Given the description of an element on the screen output the (x, y) to click on. 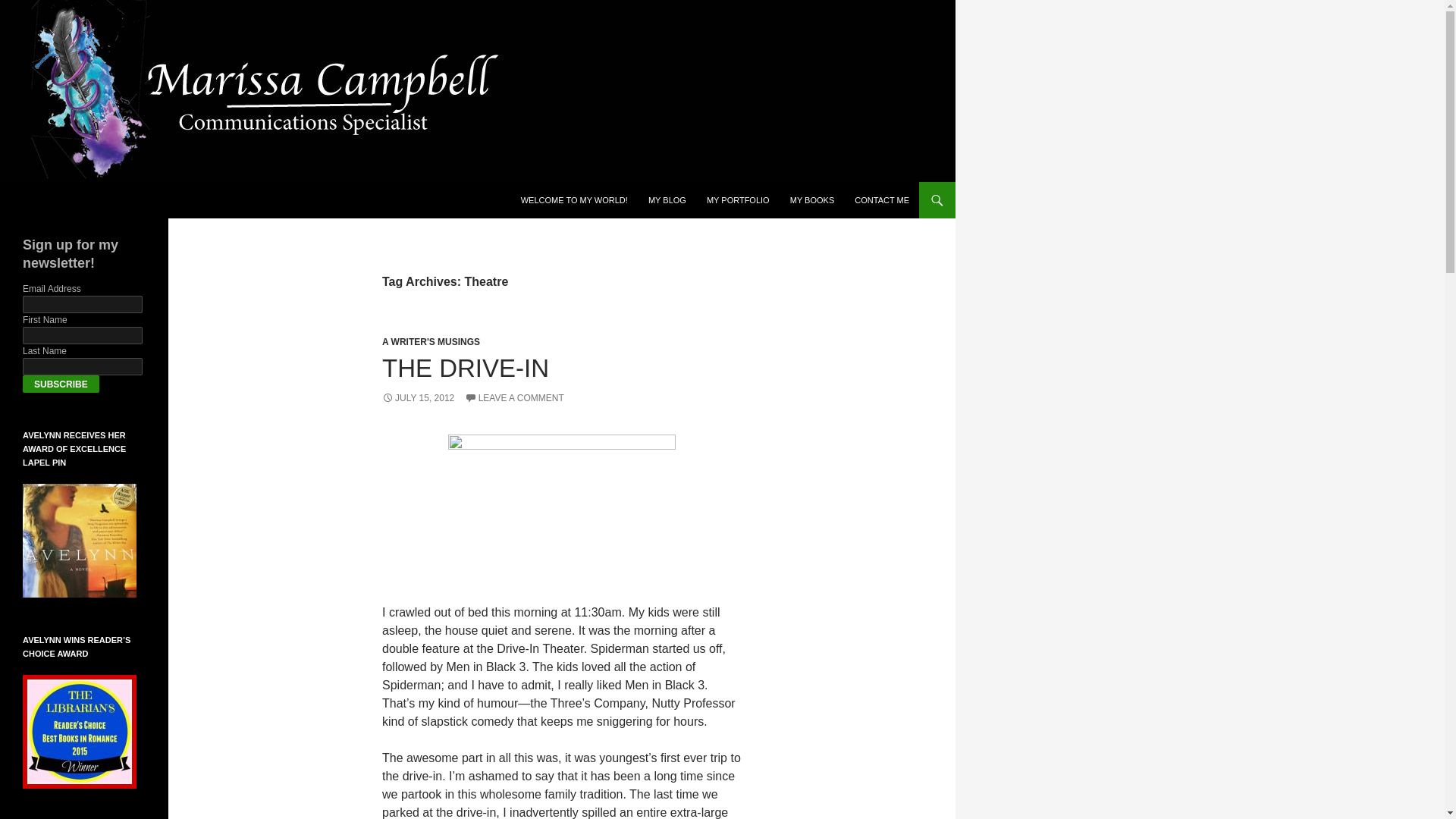
THE DRIVE-IN (464, 367)
JULY 15, 2012 (417, 398)
Subscribe (61, 384)
Search (30, 8)
A WRITER'S MUSINGS (430, 341)
A Passionate Life: The Drive-In (561, 509)
CONTACT ME (881, 199)
MY PORTFOLIO (737, 199)
MY BLOG (667, 199)
MY BOOKS (811, 199)
Subscribe (61, 384)
Marissa Campbell (80, 199)
WELCOME TO MY WORLD! (574, 199)
